Given the description of an element on the screen output the (x, y) to click on. 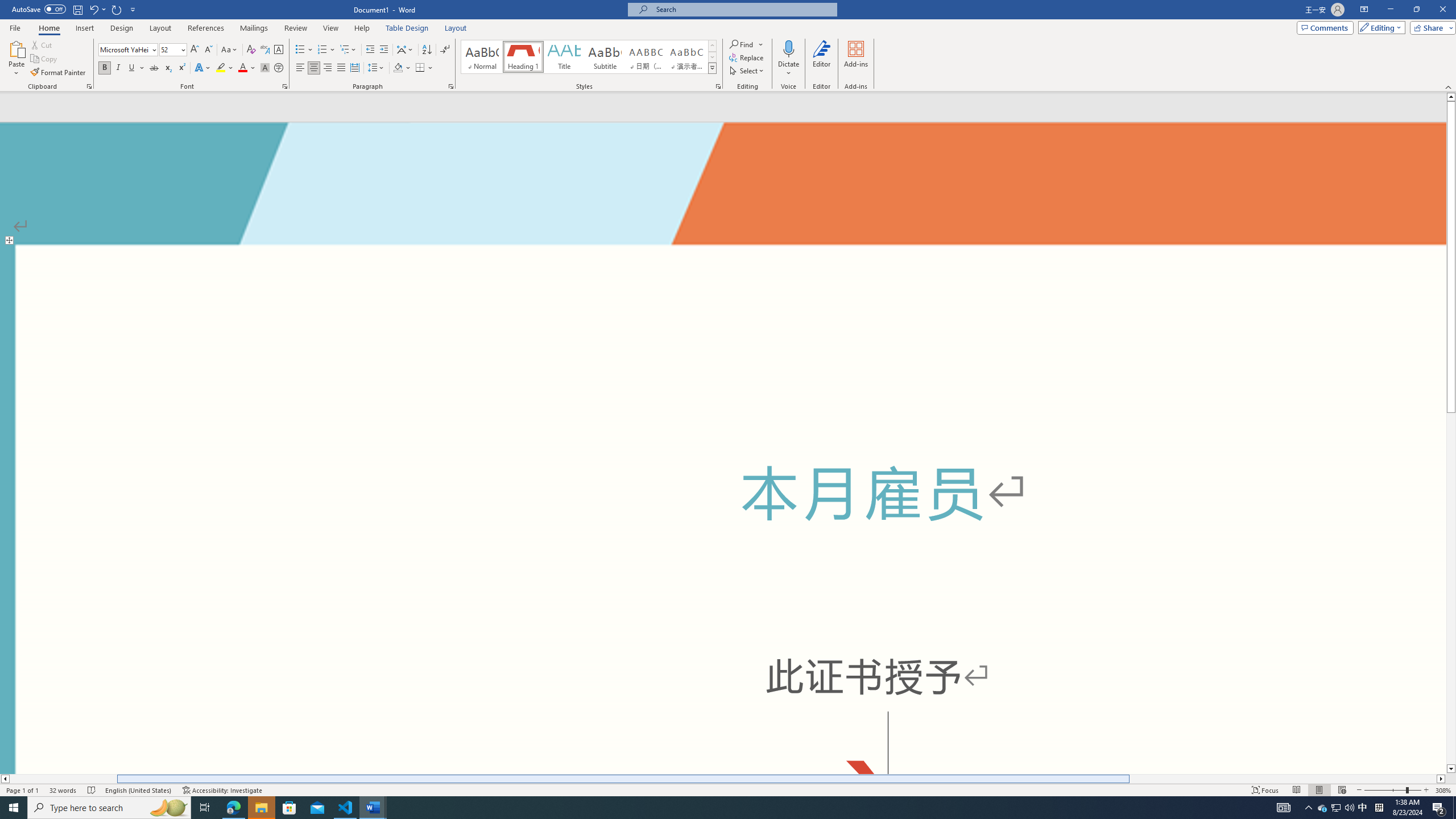
Strikethrough (154, 67)
Justify (340, 67)
Title (564, 56)
Replace... (747, 56)
Page Number Page 1 of 1 (22, 790)
Line and Paragraph Spacing (376, 67)
Text Highlight Color Yellow (220, 67)
Phonetic Guide... (264, 49)
Grow Font (193, 49)
Asian Layout (405, 49)
